Given the description of an element on the screen output the (x, y) to click on. 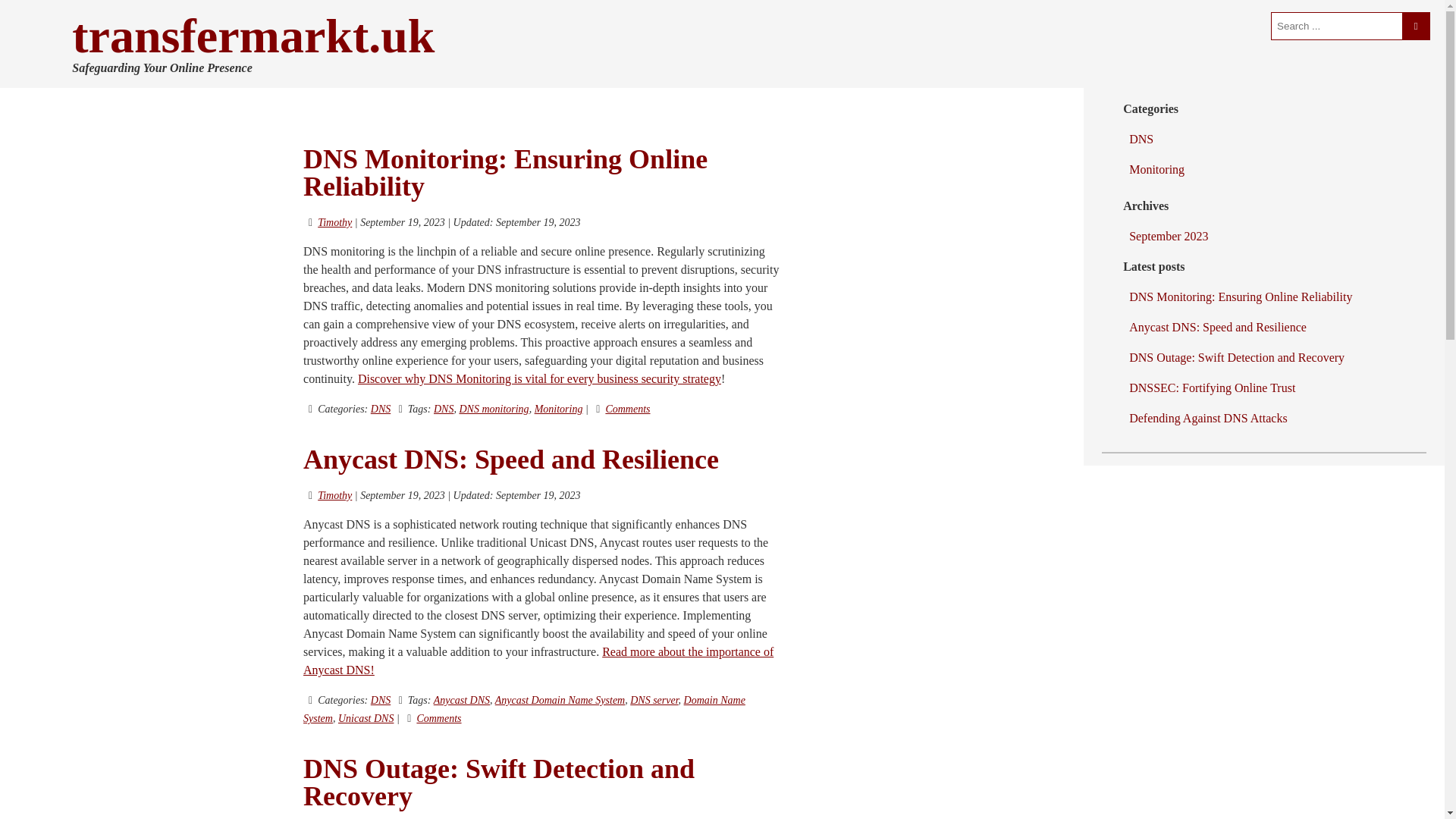
DNS (380, 408)
Monitoring (558, 408)
Anycast DNS: Speed and Resilience (510, 459)
Timothy (334, 495)
Domain Name System (523, 708)
DNS Monitoring: Ensuring Online Reliability (504, 172)
transfermarkt.uk (252, 36)
Unicast DNS (365, 717)
DNS Monitoring: Ensuring Online Reliability (504, 172)
DNS (442, 408)
